Given the description of an element on the screen output the (x, y) to click on. 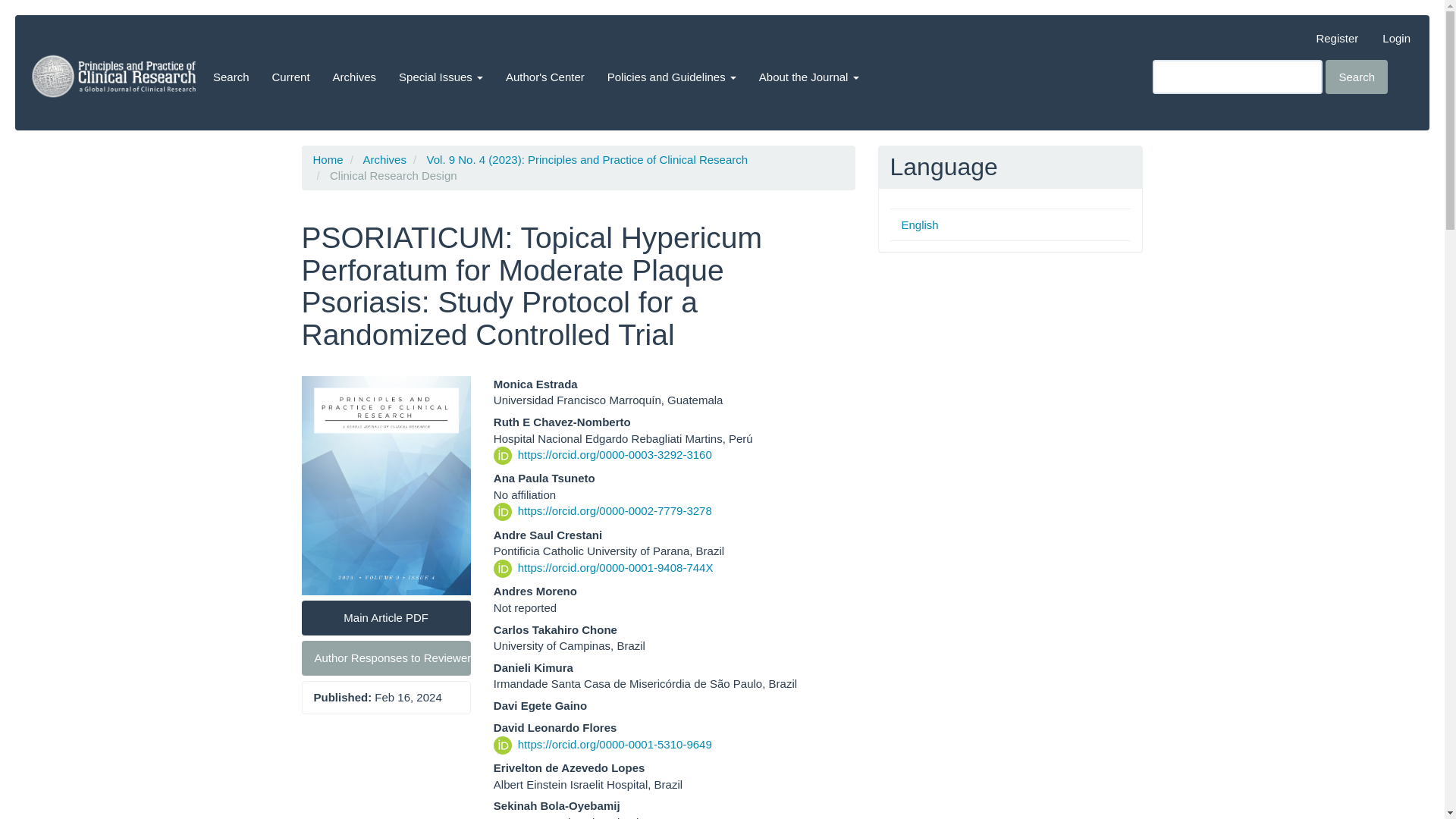
Archives (384, 159)
About the Journal (809, 76)
Search (231, 76)
Register (1337, 38)
Policies and Guidelines (671, 76)
Special Issues (441, 76)
Home (327, 159)
Current (290, 76)
Search (1355, 76)
Author Responses to Reviewer Comments (385, 657)
